Given the description of an element on the screen output the (x, y) to click on. 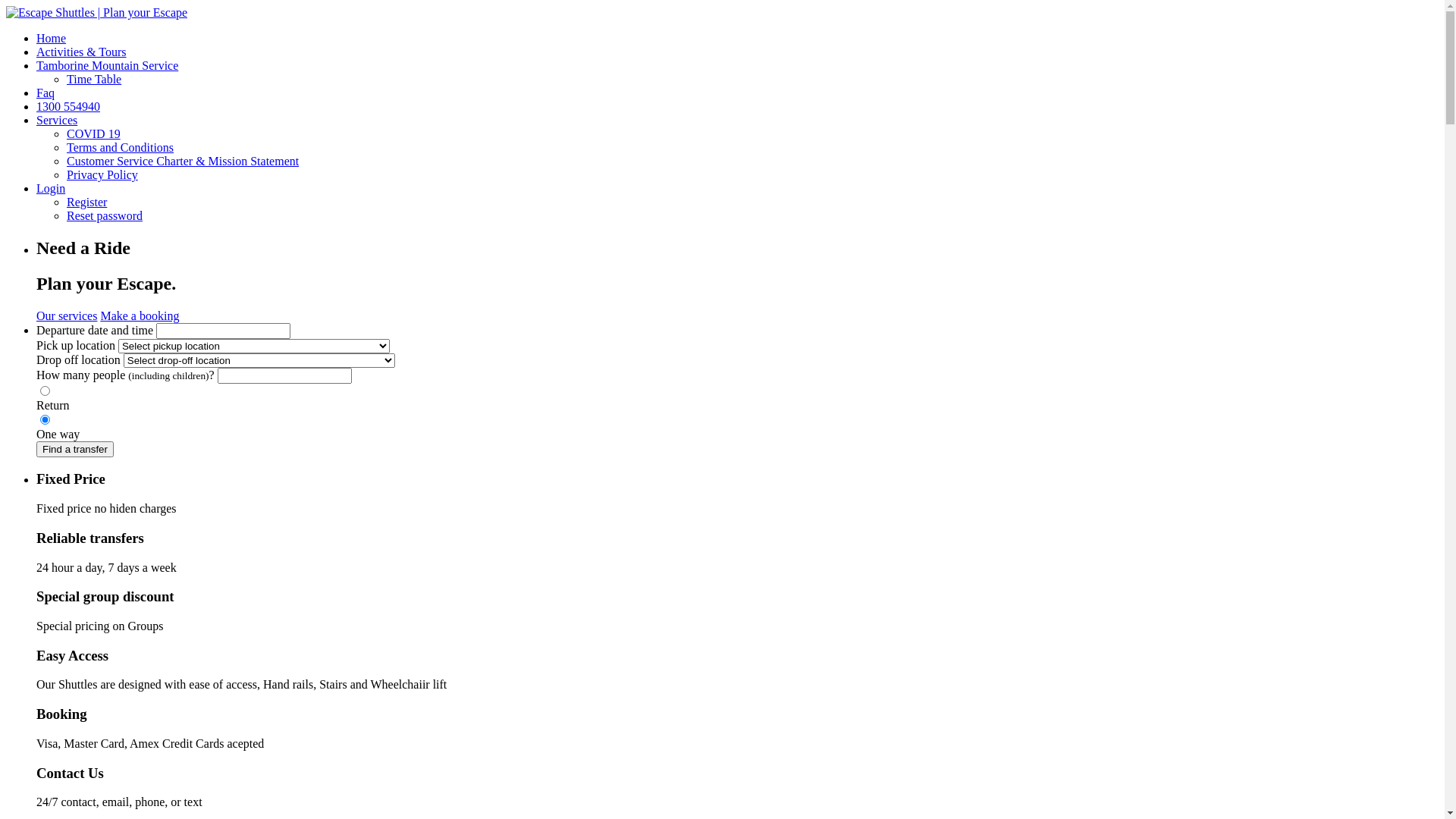
Time Table Element type: text (93, 78)
Home Element type: text (50, 37)
Escape Shuttles | Plan your Escape Element type: hover (96, 12)
Make a booking Element type: text (139, 315)
Terms and Conditions Element type: text (119, 147)
1300 554940 Element type: text (68, 106)
COVID 19 Element type: text (93, 133)
Services Element type: text (56, 119)
Faq Element type: text (45, 92)
Customer Service Charter & Mission Statement Element type: text (182, 160)
Our services Element type: text (66, 315)
Find a transfer Element type: text (74, 449)
Login Element type: text (50, 188)
Activities & Tours Element type: text (81, 51)
Privacy Policy Element type: text (102, 174)
Tamborine Mountain Service Element type: text (107, 65)
Register Element type: text (86, 201)
Reset password Element type: text (104, 215)
